Given the description of an element on the screen output the (x, y) to click on. 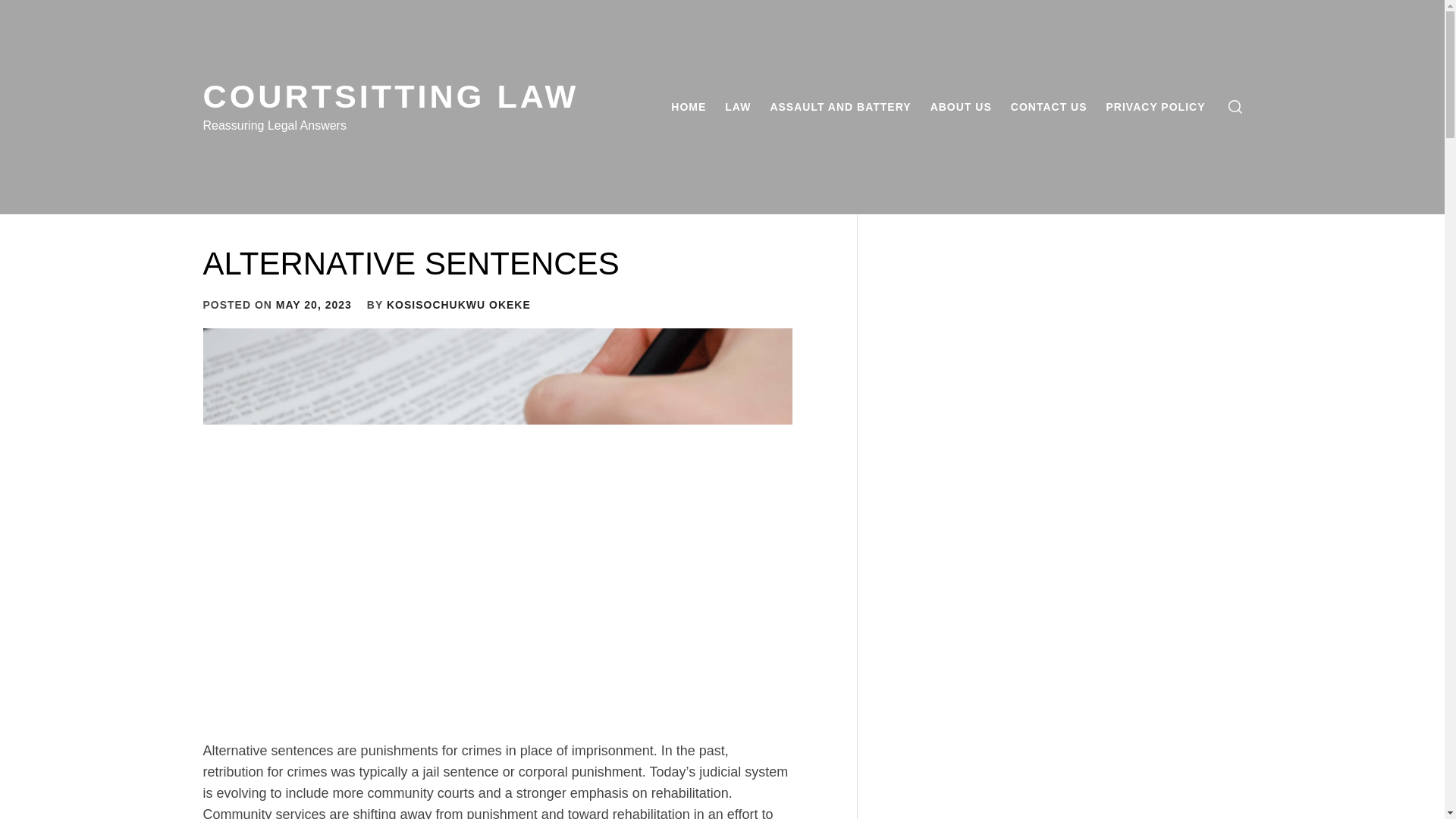
Search (797, 409)
LAW (737, 106)
KOSISOCHUKWU OKEKE (459, 304)
HOME (688, 106)
ASSAULT AND BATTERY (839, 106)
CONTACT US (1048, 106)
COURTSITTING LAW (391, 95)
ABOUT US (960, 106)
MAY 20, 2023 (314, 304)
PRIVACY POLICY (1155, 106)
